Given the description of an element on the screen output the (x, y) to click on. 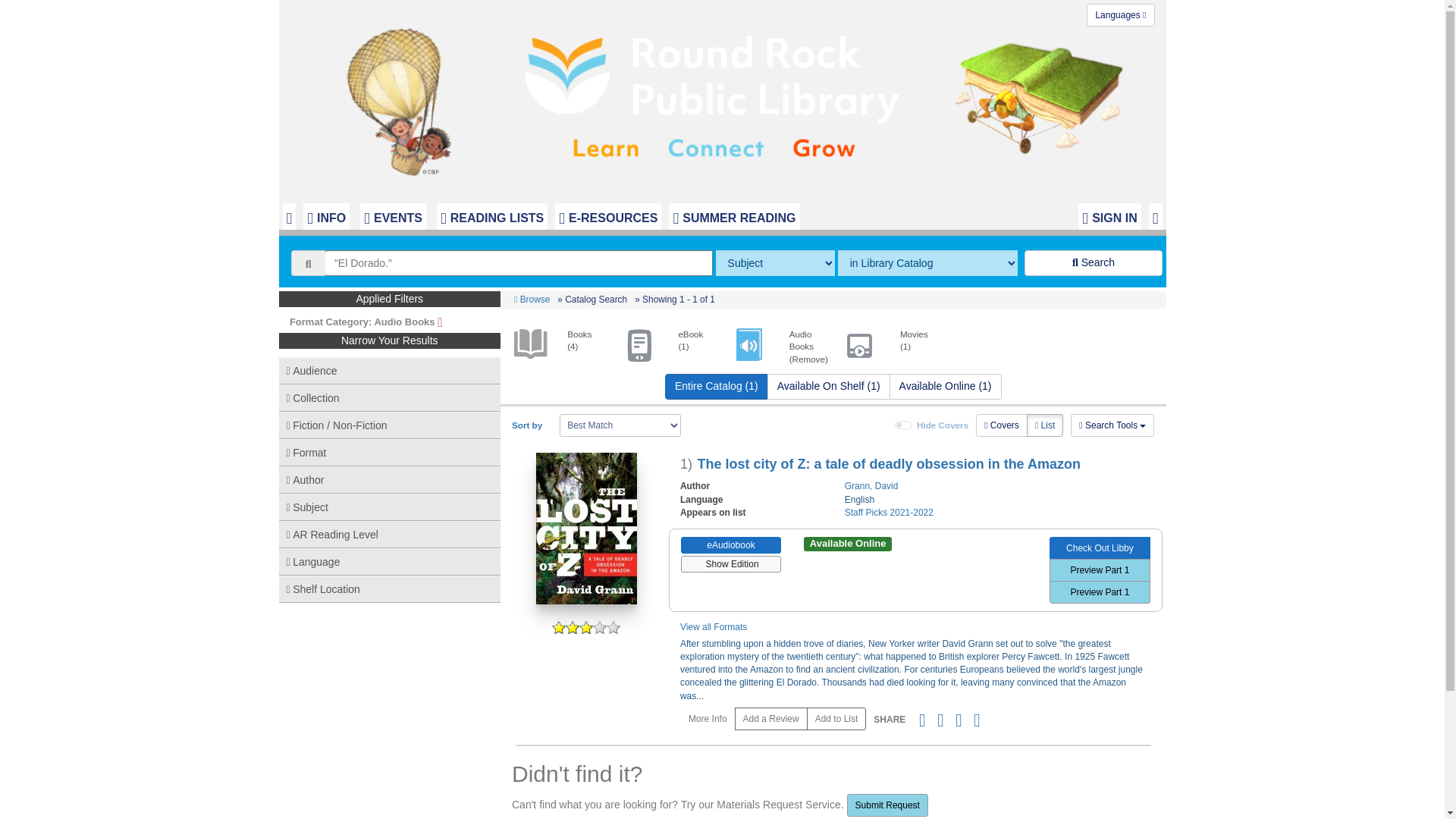
on (903, 424)
 Search (1093, 263)
Login (1109, 216)
SUMMER READING (733, 216)
READING LISTS (491, 216)
SIGN IN (1109, 216)
E-RESOURCES (607, 216)
INFO (325, 216)
"El Dorado." (518, 263)
EVENTS (392, 216)
Languages  (1120, 15)
Browse (531, 299)
